Given the description of an element on the screen output the (x, y) to click on. 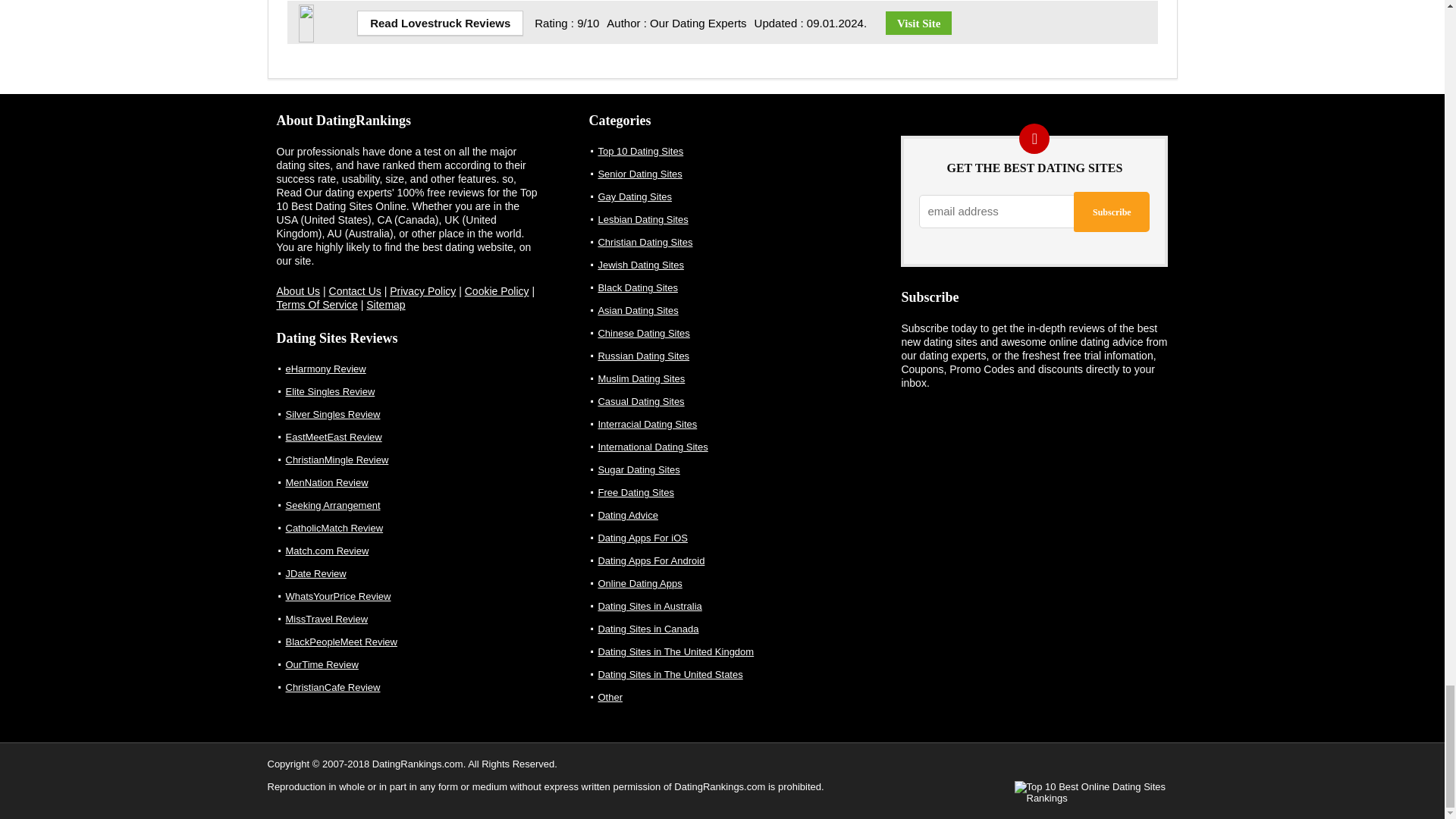
Subscribe (1112, 211)
Lovestruck Reviews (324, 10)
Lovestruck Reviews (439, 23)
Visit Lovestruck (918, 23)
